Given the description of an element on the screen output the (x, y) to click on. 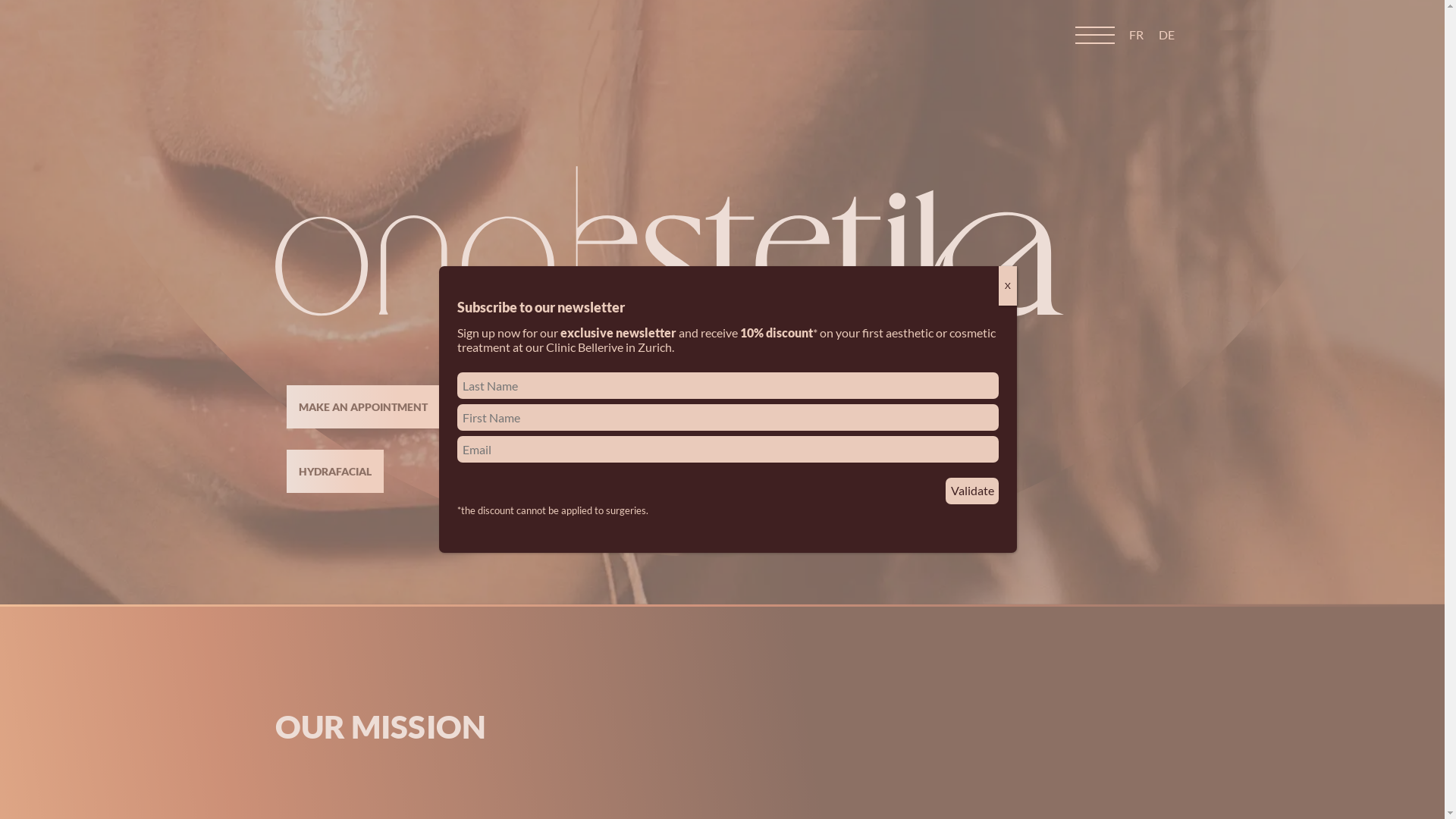
Menu Element type: text (1094, 35)
DE Element type: text (1166, 33)
Validate Element type: text (971, 490)
MAKE AN APPOINTMENT Element type: text (362, 406)
HYDRAFACIAL Element type: text (334, 470)
X Element type: text (1007, 285)
FR Element type: text (1136, 33)
